Given the description of an element on the screen output the (x, y) to click on. 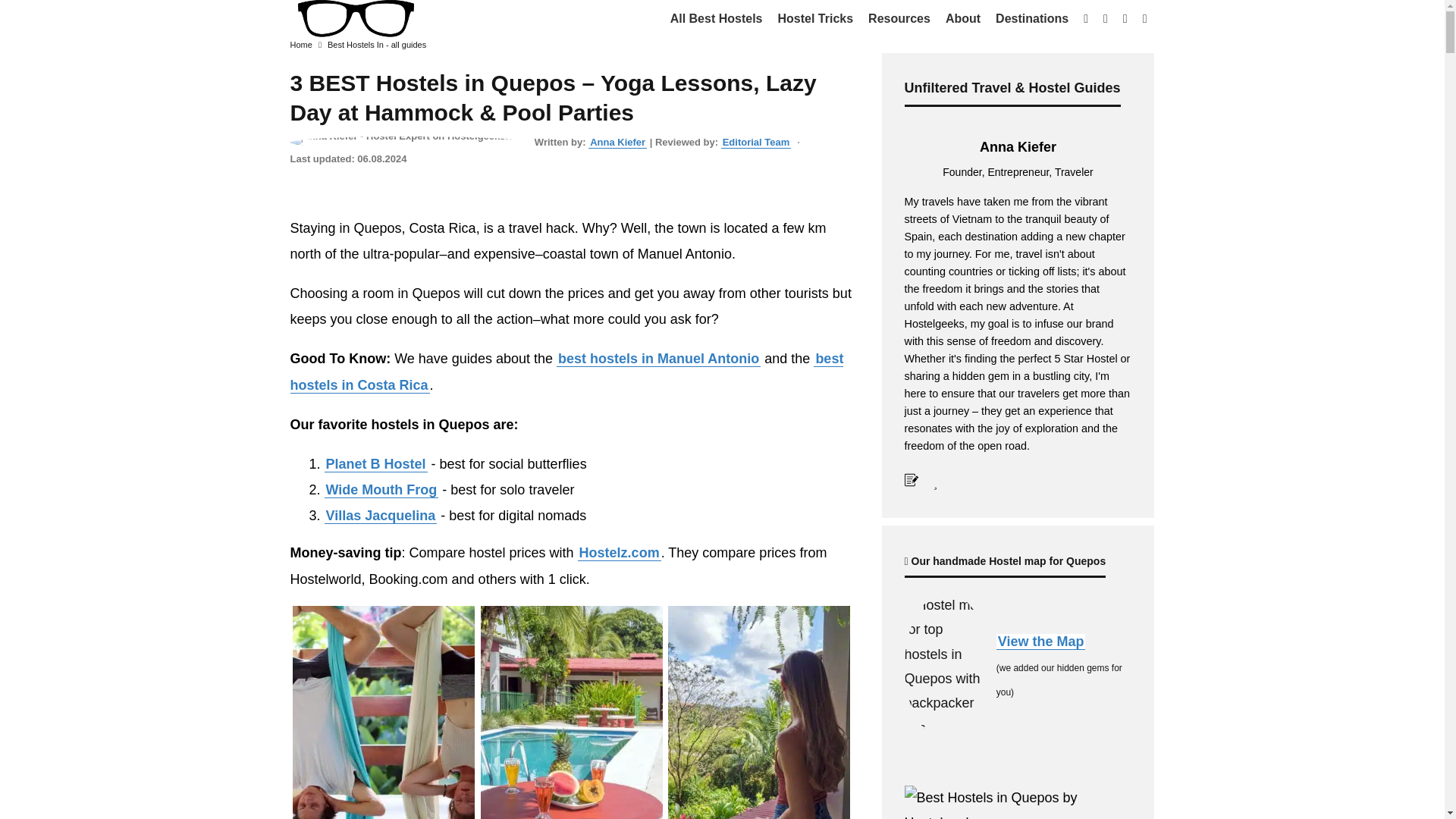
How to find hostels in Quepos (619, 553)
Hostelgeeks - best hostels in the world (354, 18)
Editorial Team (756, 142)
Hostel Tricks (815, 18)
Anna Kiefer - Hostel Expert on Hostelgeeks.com (408, 142)
All Best Hostels (716, 18)
About (962, 18)
Resources (898, 18)
Articles by Anna Kiefer (617, 142)
Anna Kiefer - Hostel Expert on Hostelgeeks.com (408, 135)
